Given the description of an element on the screen output the (x, y) to click on. 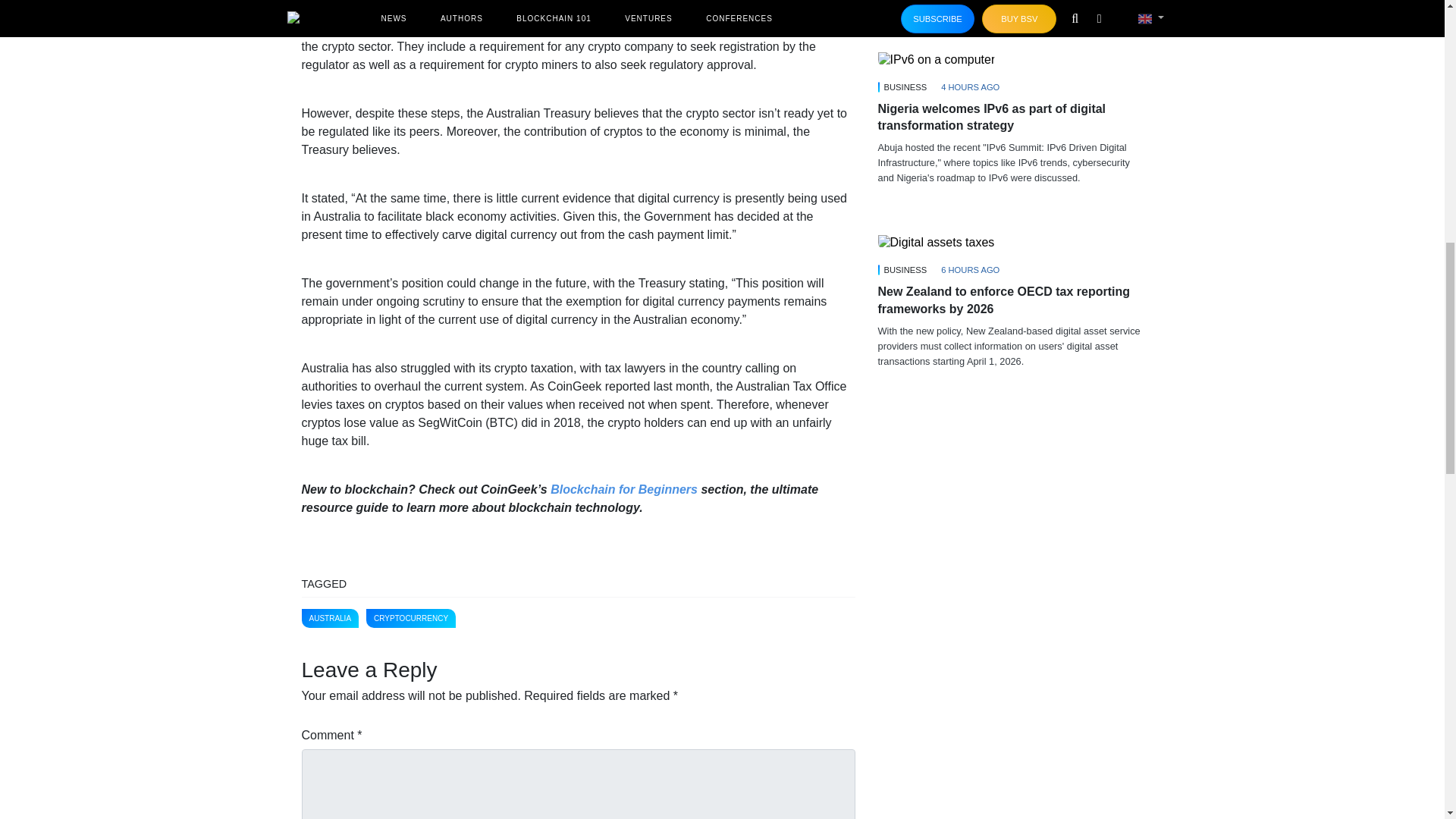
Australia (325, 10)
IPv6 (936, 59)
New Zealand to enforce OECD tax reporting frameworks by 2026 (1009, 242)
Tax - Digital assets (935, 242)
published new guidelines (685, 28)
